Given the description of an element on the screen output the (x, y) to click on. 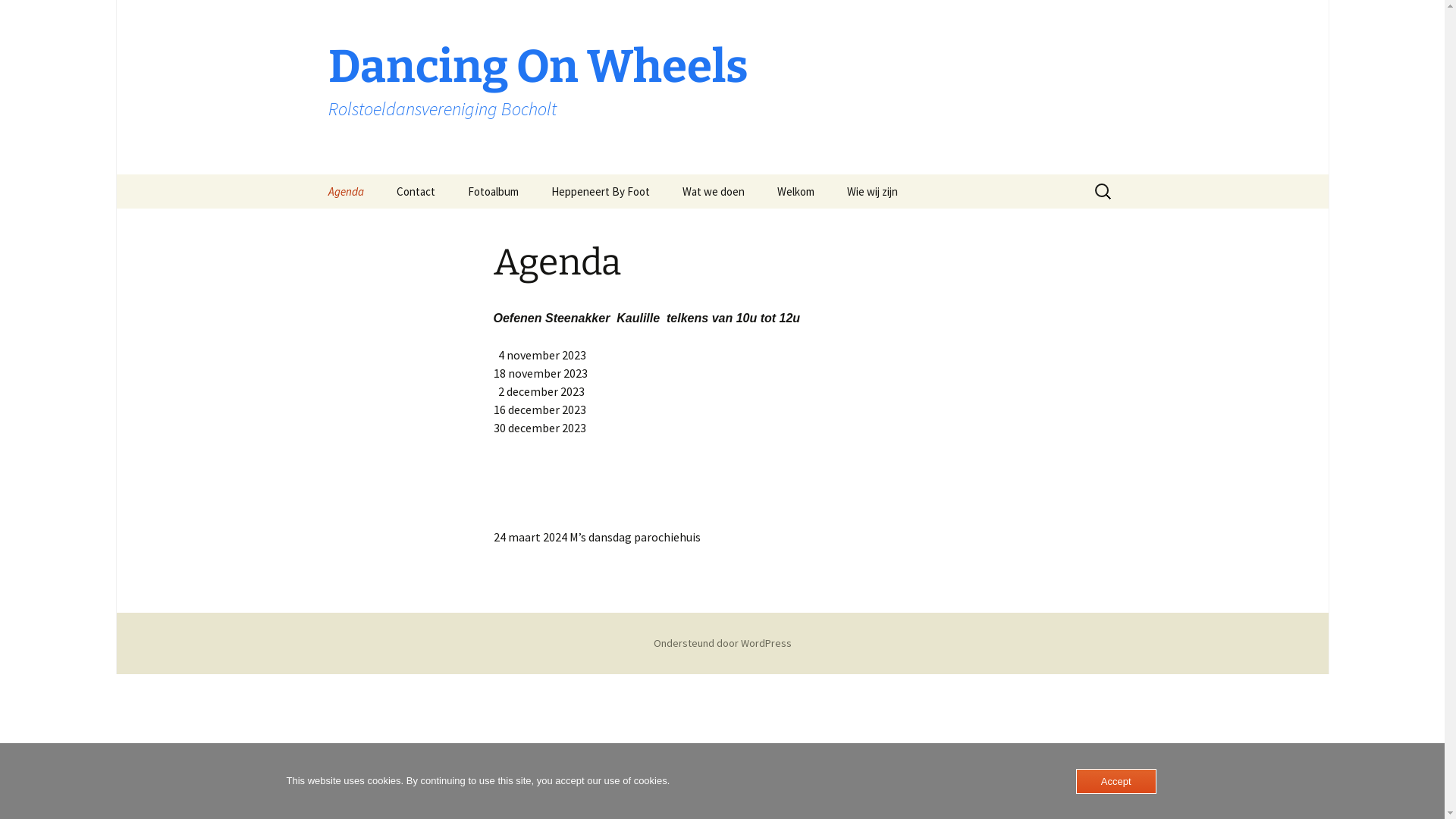
Ondersteund door WordPress Element type: text (722, 642)
Contact Element type: text (414, 191)
Wie wij zijn Element type: text (871, 191)
Wat we doen Element type: text (713, 191)
Spring naar inhoud Element type: text (312, 173)
Heppeneert By Foot Element type: text (599, 191)
Accept Element type: text (1116, 780)
Zoeken Element type: text (18, 16)
Fotoalbum Element type: text (492, 191)
Dancing On Wheels
Rolstoeldansvereniging Bocholt Element type: text (721, 87)
Welkom Element type: text (794, 191)
Agenda Element type: text (345, 191)
